Given the description of an element on the screen output the (x, y) to click on. 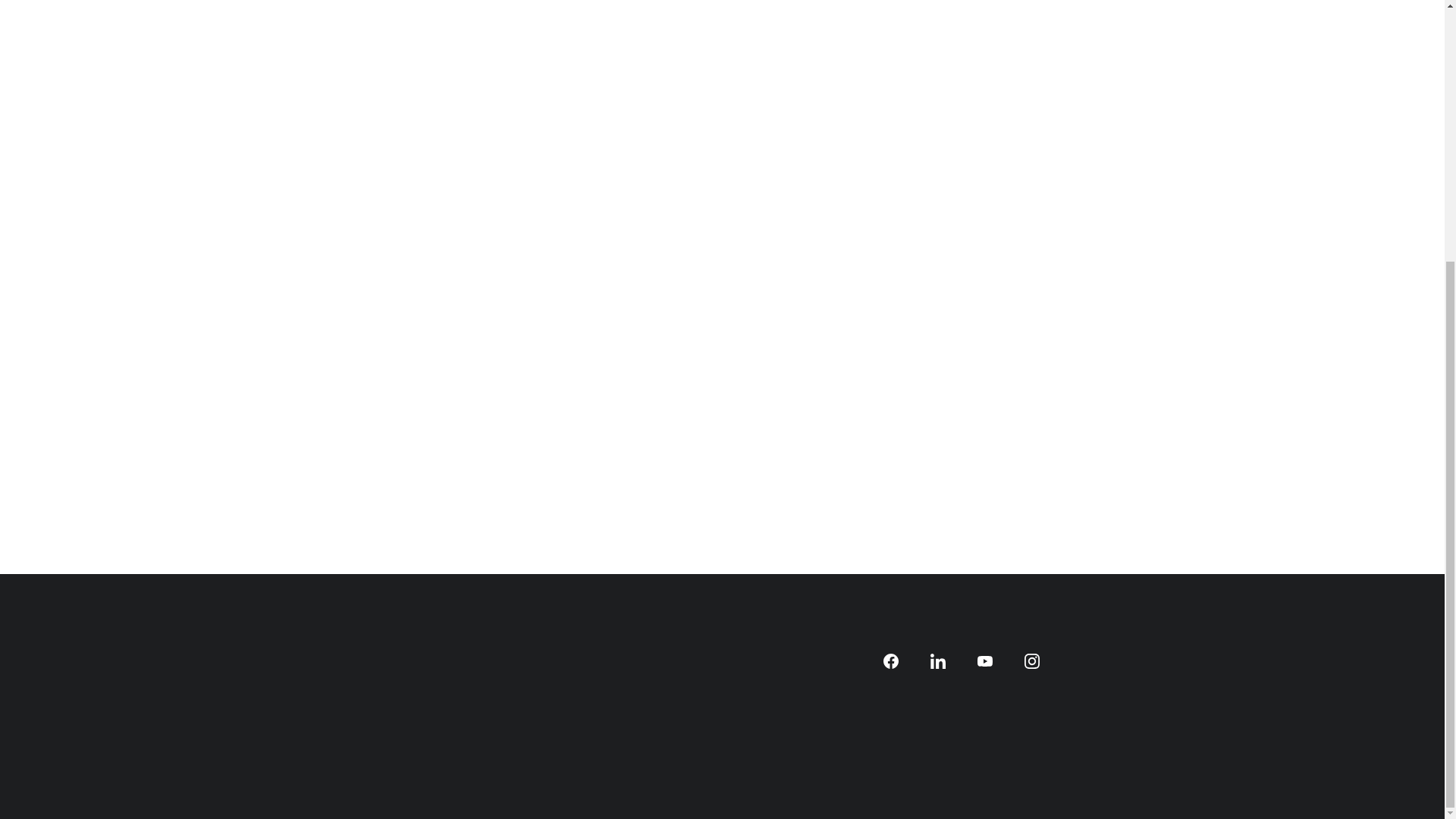
Go to Linkedin-in page (937, 661)
Go to Facebook page (890, 661)
Go to Youtube page (984, 661)
Go to Instagram page (1032, 661)
